Given the description of an element on the screen output the (x, y) to click on. 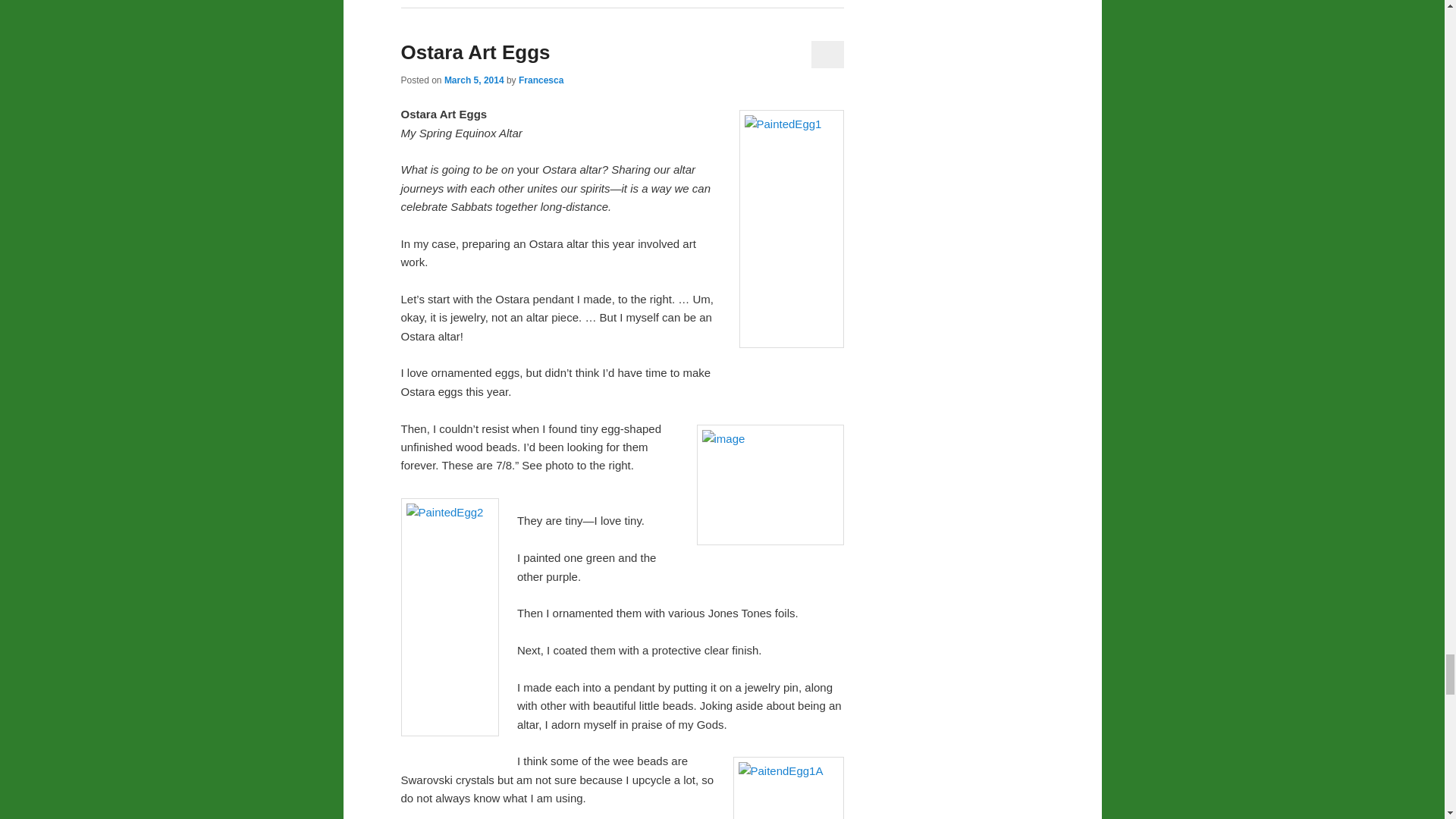
8:24 am (473, 80)
View all posts by Francesca (540, 80)
